Given the description of an element on the screen output the (x, y) to click on. 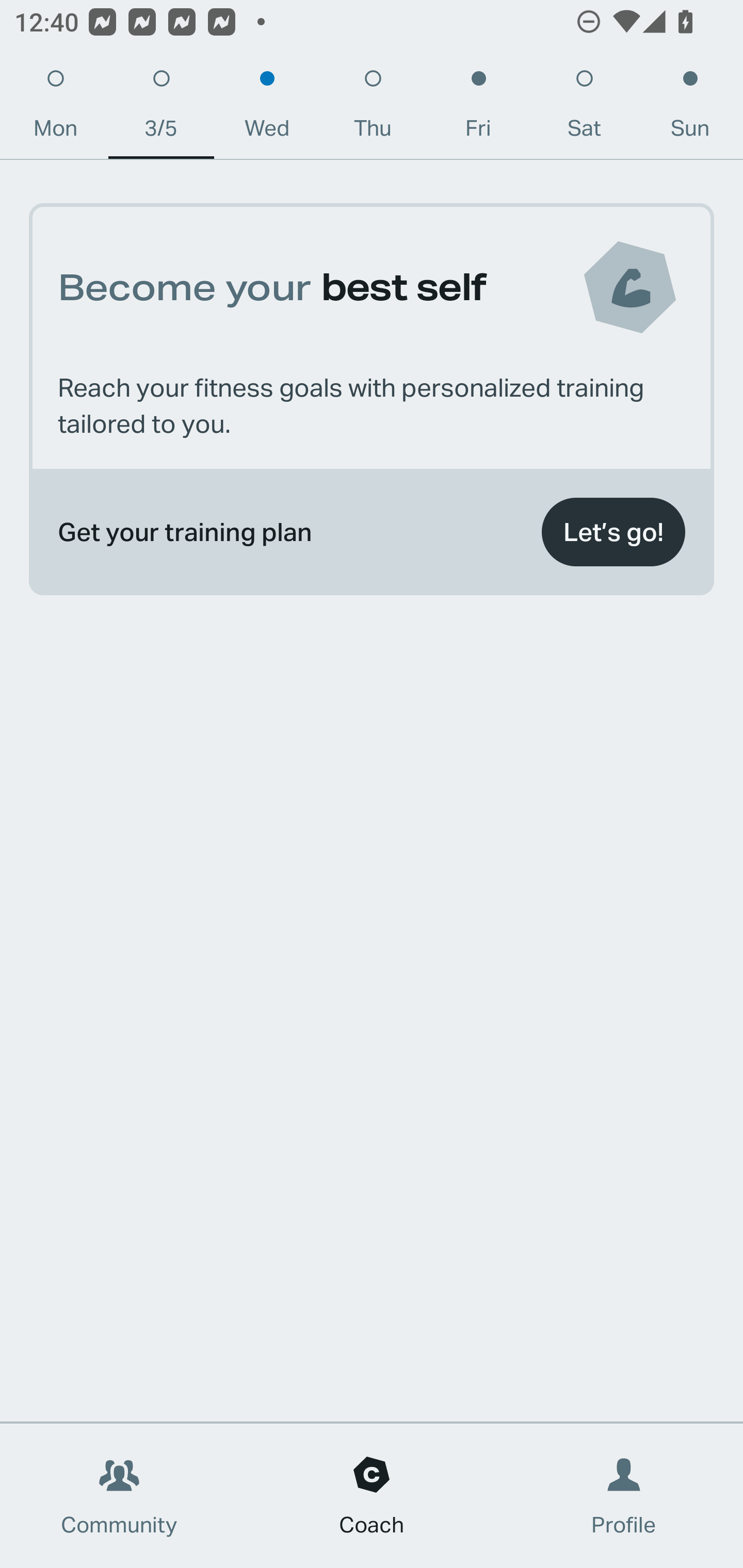
Mon (55, 108)
3/5 (160, 108)
Wed (266, 108)
Thu (372, 108)
Fri (478, 108)
Sat (584, 108)
Sun (690, 108)
Let’s go! (613, 532)
Community (119, 1495)
Profile (624, 1495)
